Given the description of an element on the screen output the (x, y) to click on. 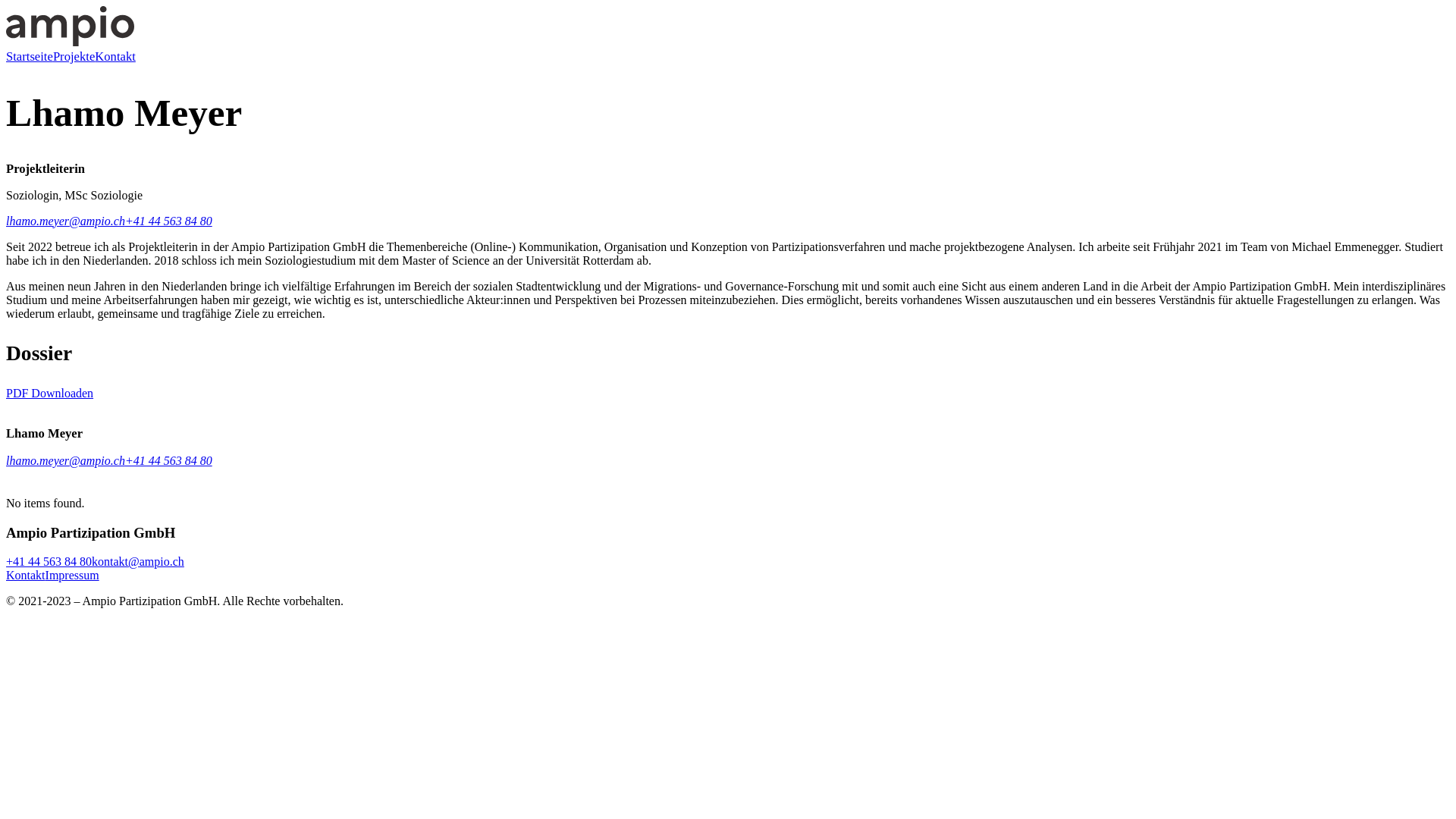
lhamo.meyer@ampio.ch Element type: text (65, 220)
Kontakt Element type: text (25, 574)
Kontakt Element type: text (114, 56)
Projekte Element type: text (73, 56)
lhamo.meyer@ampio.ch Element type: text (65, 460)
Impressum Element type: text (72, 574)
Startseite Element type: text (29, 56)
kontakt@ampio.ch Element type: text (137, 561)
+41 44 563 84 80 Element type: text (48, 561)
PDF Downloaden Element type: text (49, 392)
+41 44 563 84 80 Element type: text (168, 460)
+41 44 563 84 80 Element type: text (168, 220)
